Given the description of an element on the screen output the (x, y) to click on. 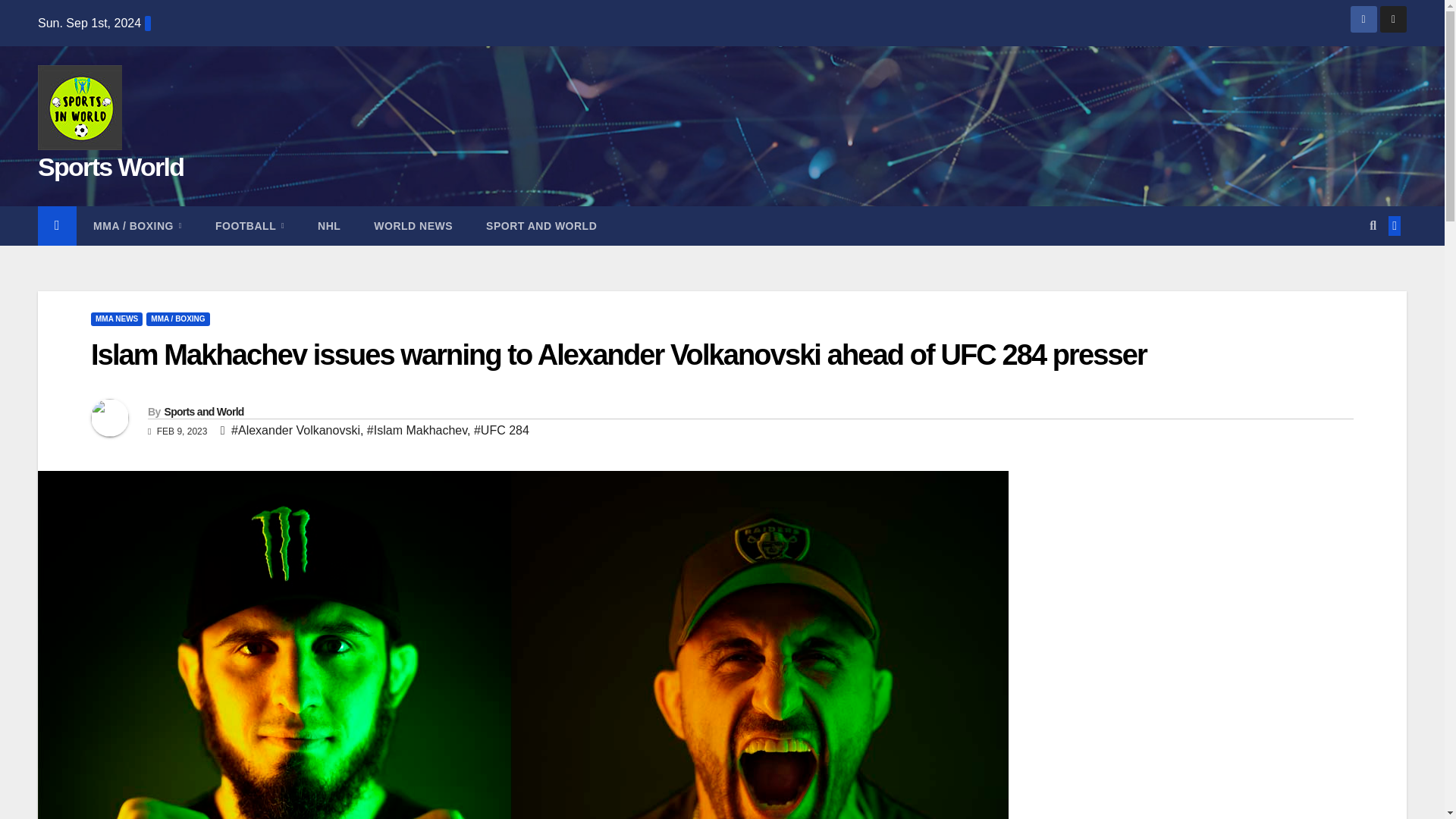
NHL (328, 225)
Football (249, 225)
MMA NEWS (116, 318)
Sport and world (540, 225)
Sports World (110, 166)
Sports and World (203, 411)
World news (412, 225)
FOOTBALL (249, 225)
NHL (328, 225)
